Given the description of an element on the screen output the (x, y) to click on. 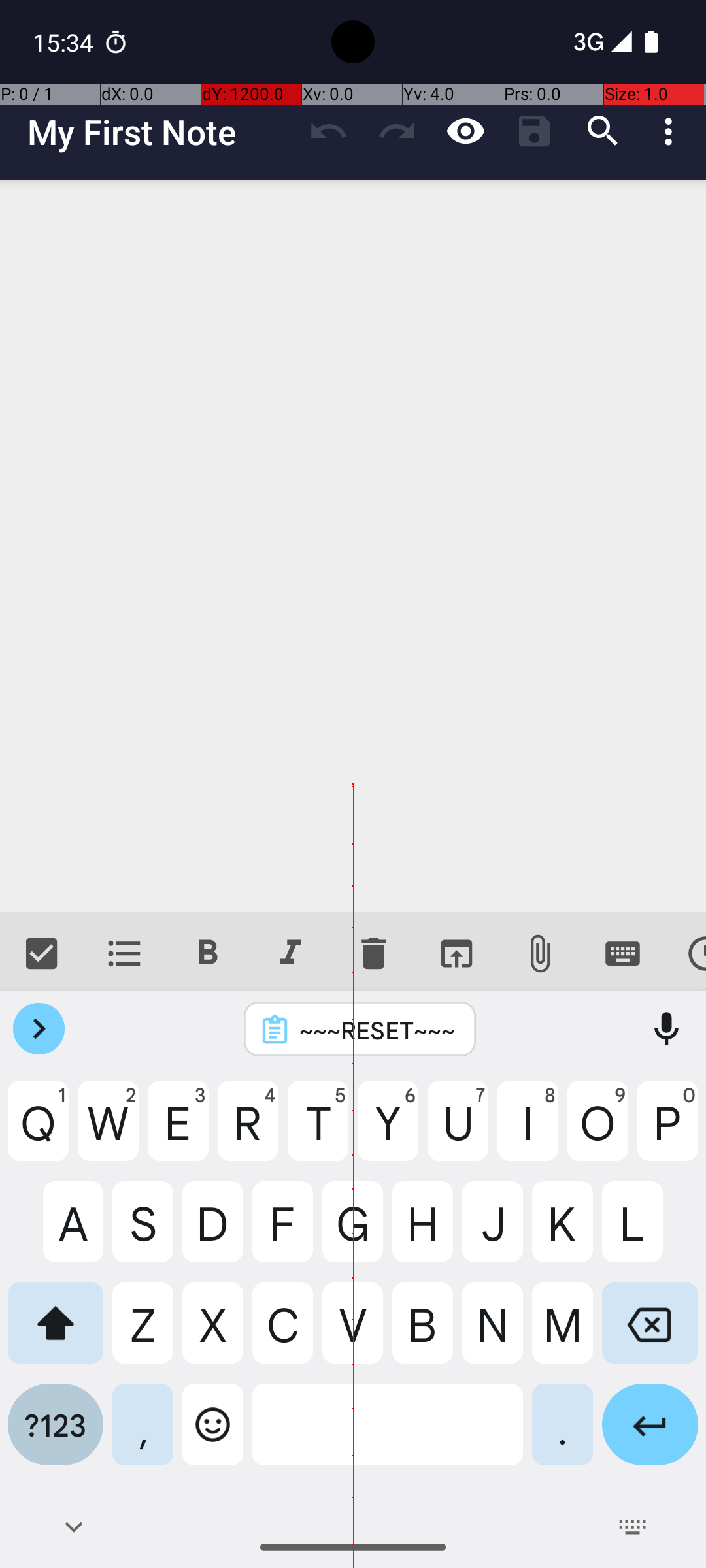
My First Note Element type: android.widget.TextView (160, 131)
